Given the description of an element on the screen output the (x, y) to click on. 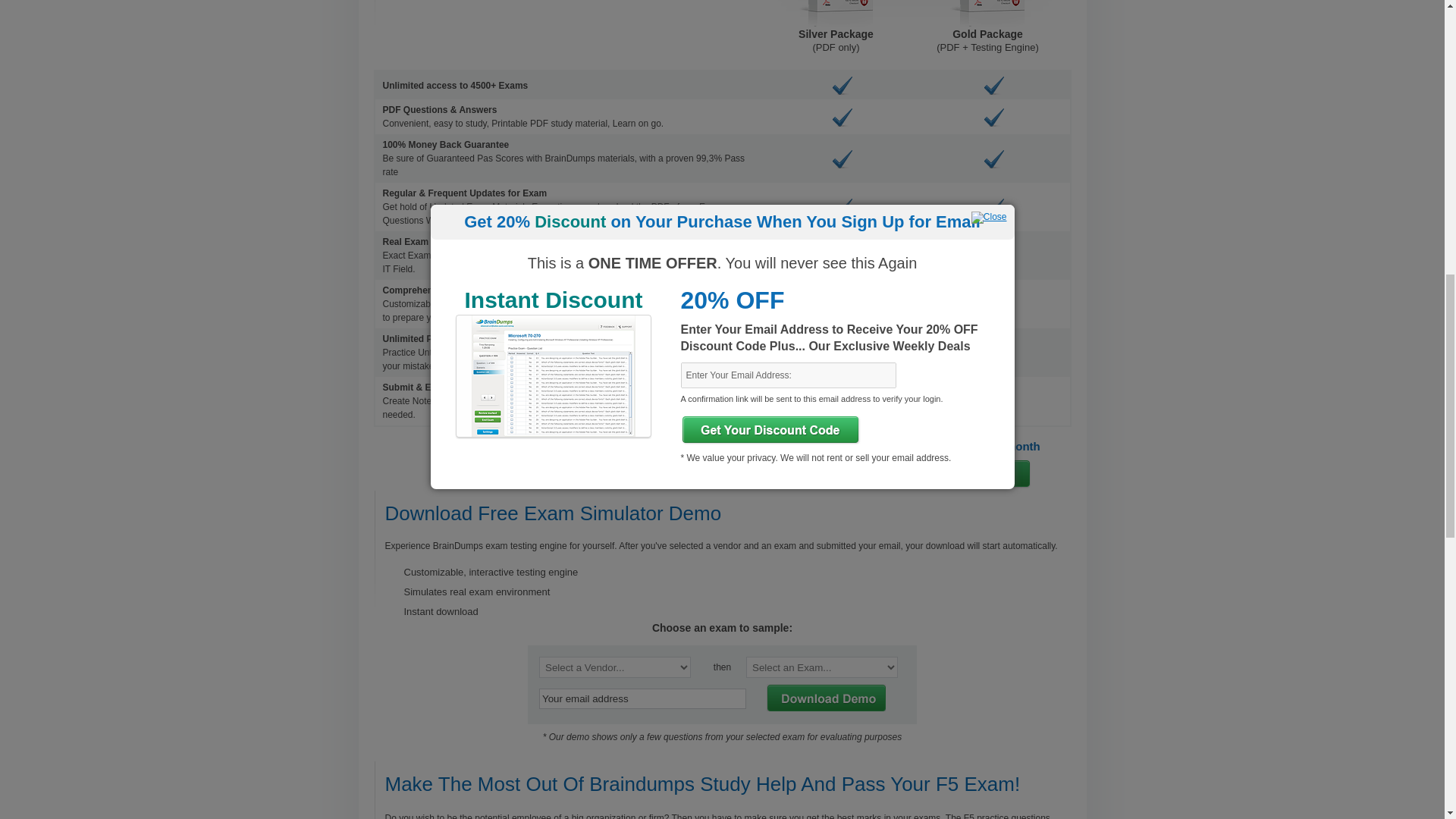
Download Free Demo (825, 697)
Your email address (641, 698)
Buy Silver Package (843, 473)
Buy Gold Package (991, 473)
